Given the description of an element on the screen output the (x, y) to click on. 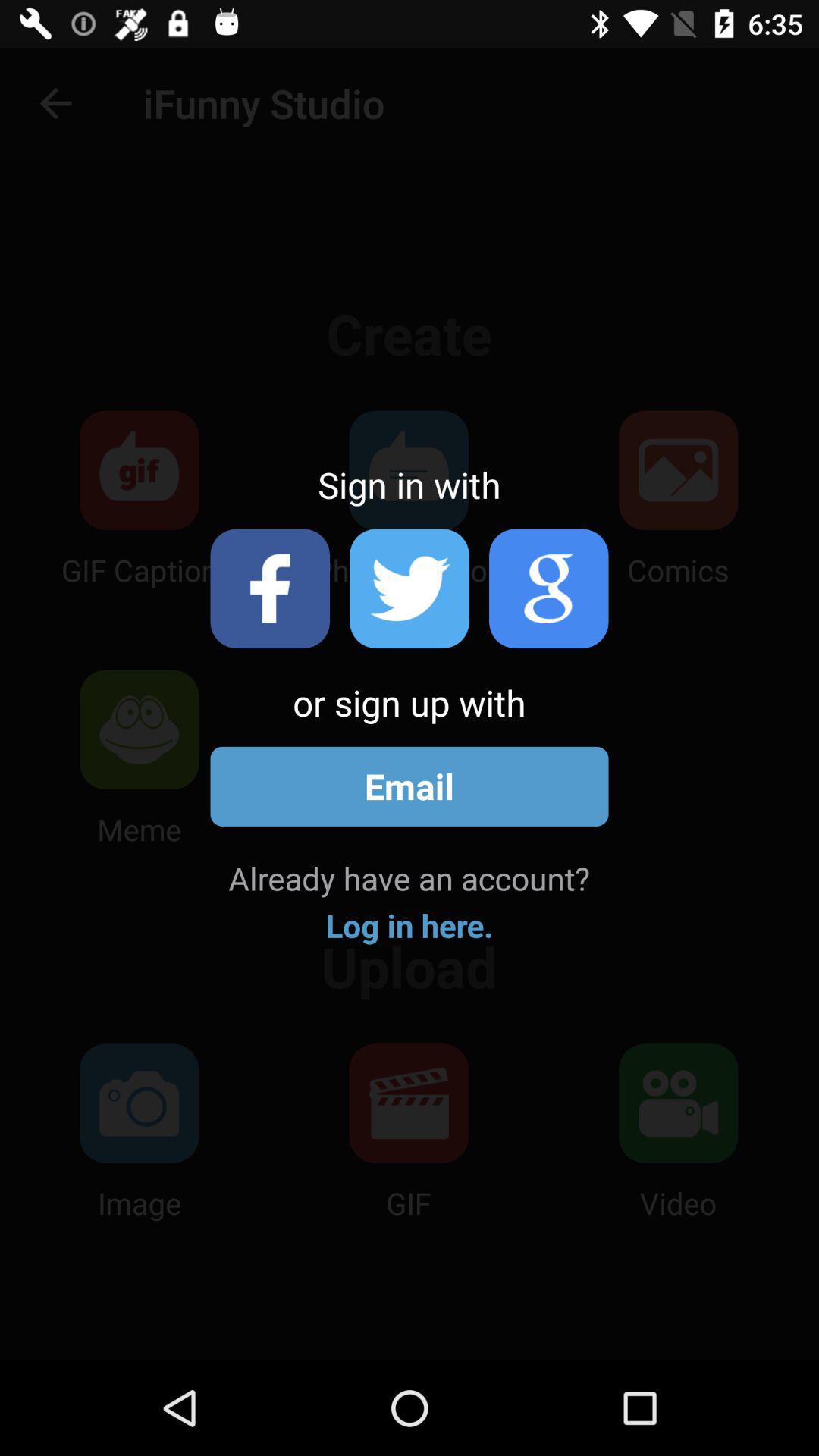
sign in with facebook account (269, 588)
